Given the description of an element on the screen output the (x, y) to click on. 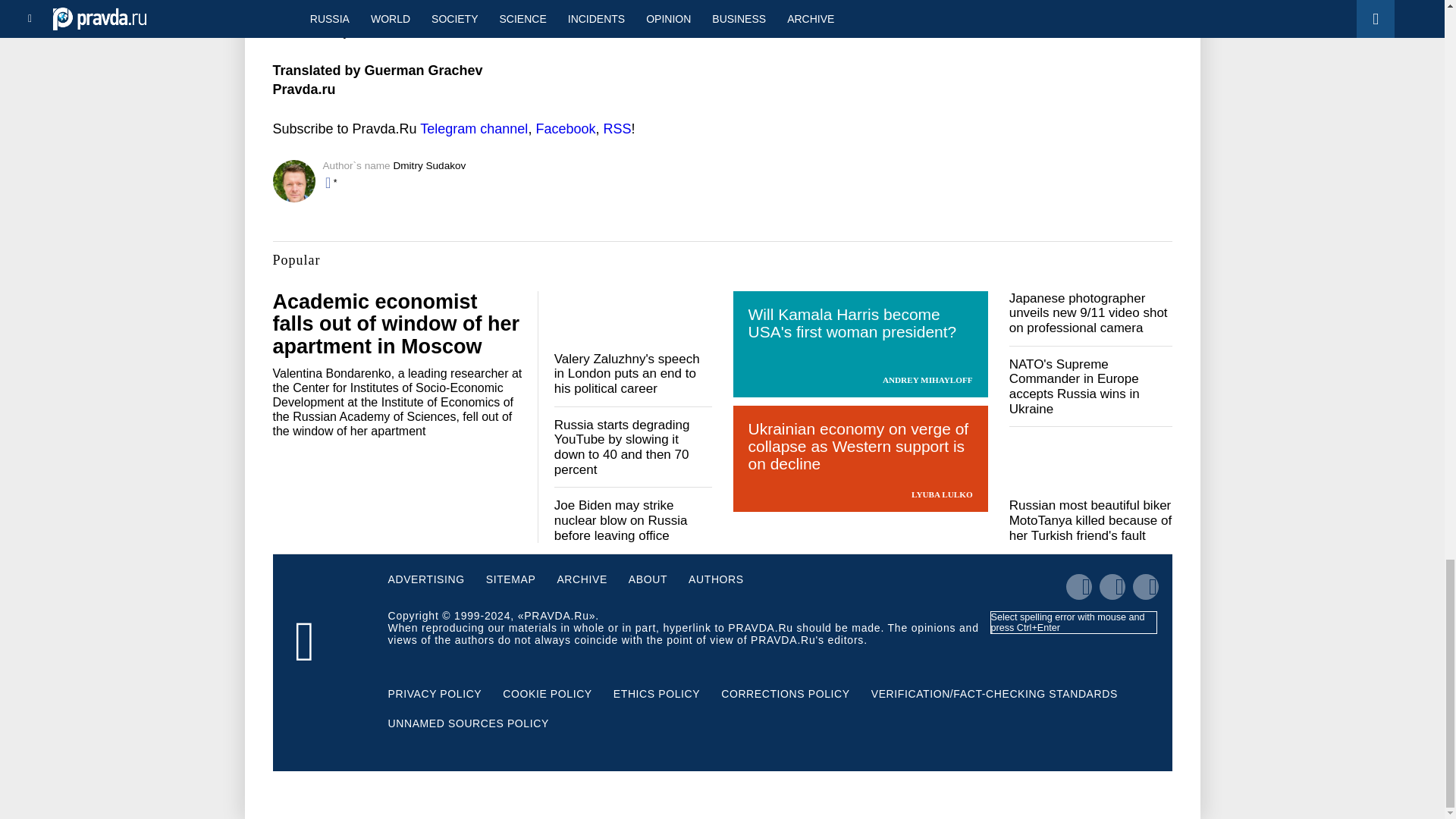
Telegram channel (473, 128)
Facebook (565, 128)
RSS (616, 128)
Dmitry Sudakov (429, 165)
